Given the description of an element on the screen output the (x, y) to click on. 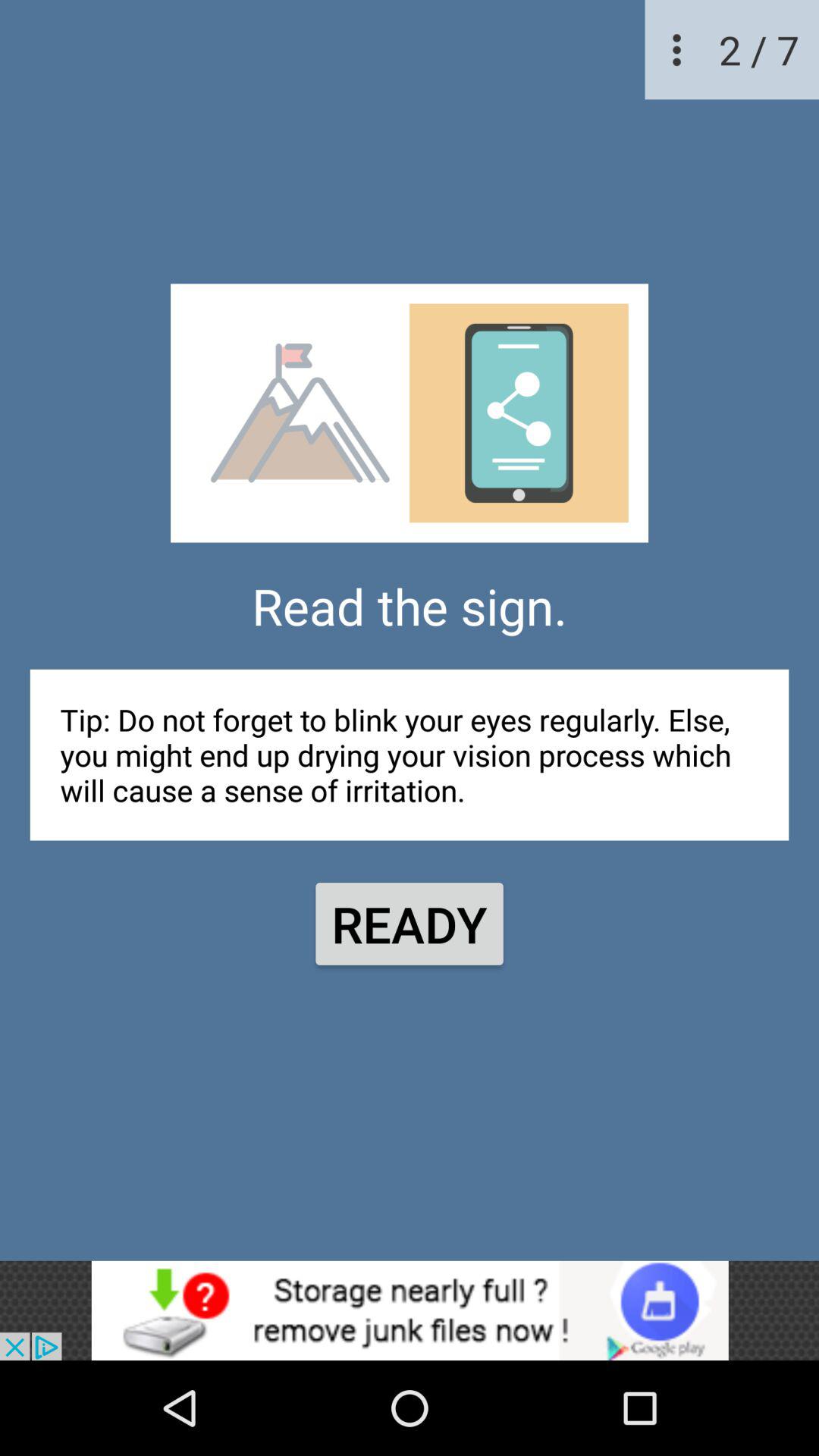
advertisement page (409, 1310)
